Given the description of an element on the screen output the (x, y) to click on. 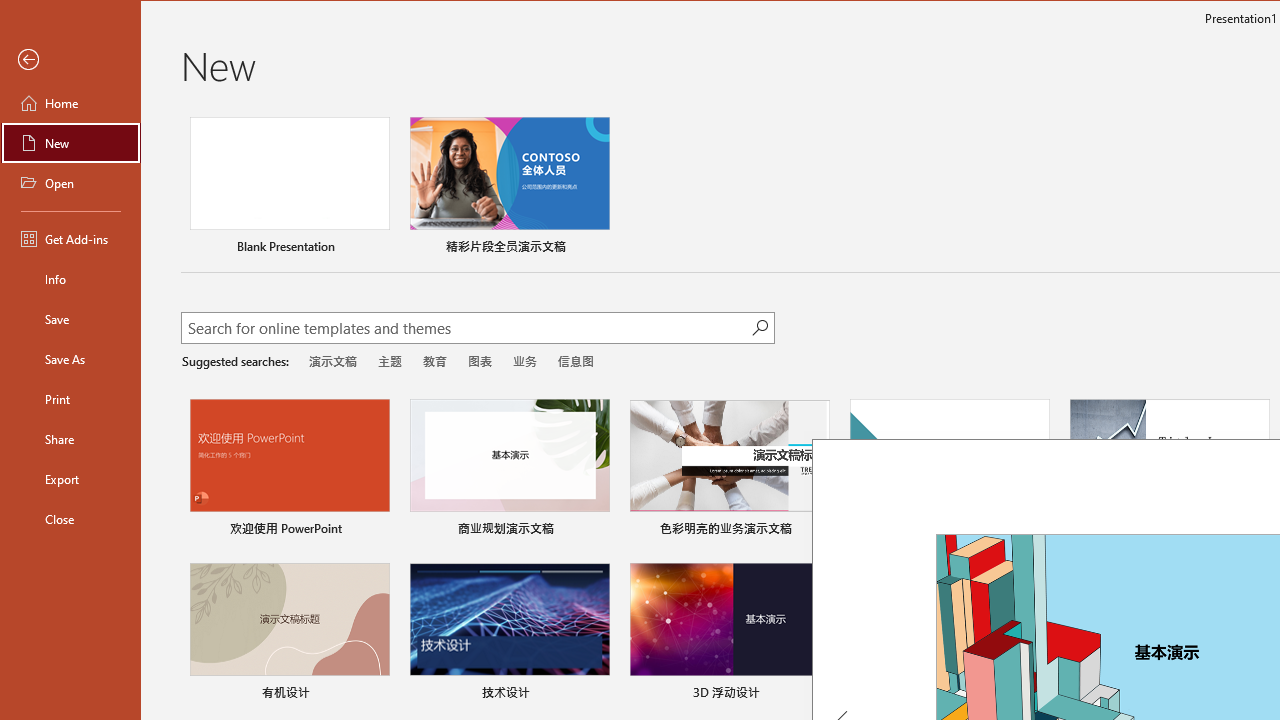
Search for online templates and themes (467, 330)
Blank Presentation (289, 187)
Export (70, 478)
Print (70, 398)
Back (70, 60)
